Given the description of an element on the screen output the (x, y) to click on. 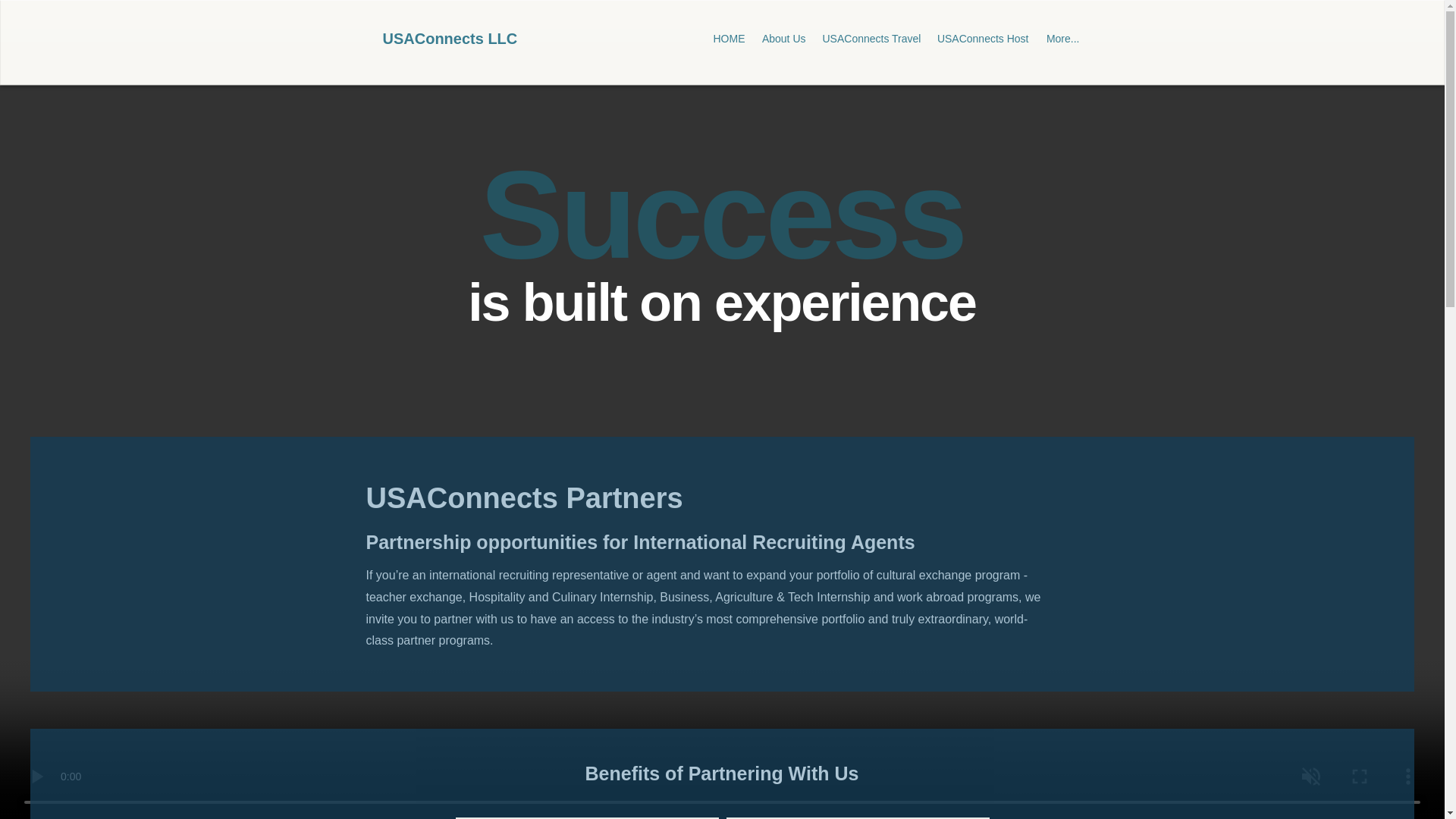
USAConnects Host (982, 38)
USAConnects Travel (870, 38)
HOME (729, 38)
USAConnects LLC (448, 38)
About Us (783, 38)
